Given the description of an element on the screen output the (x, y) to click on. 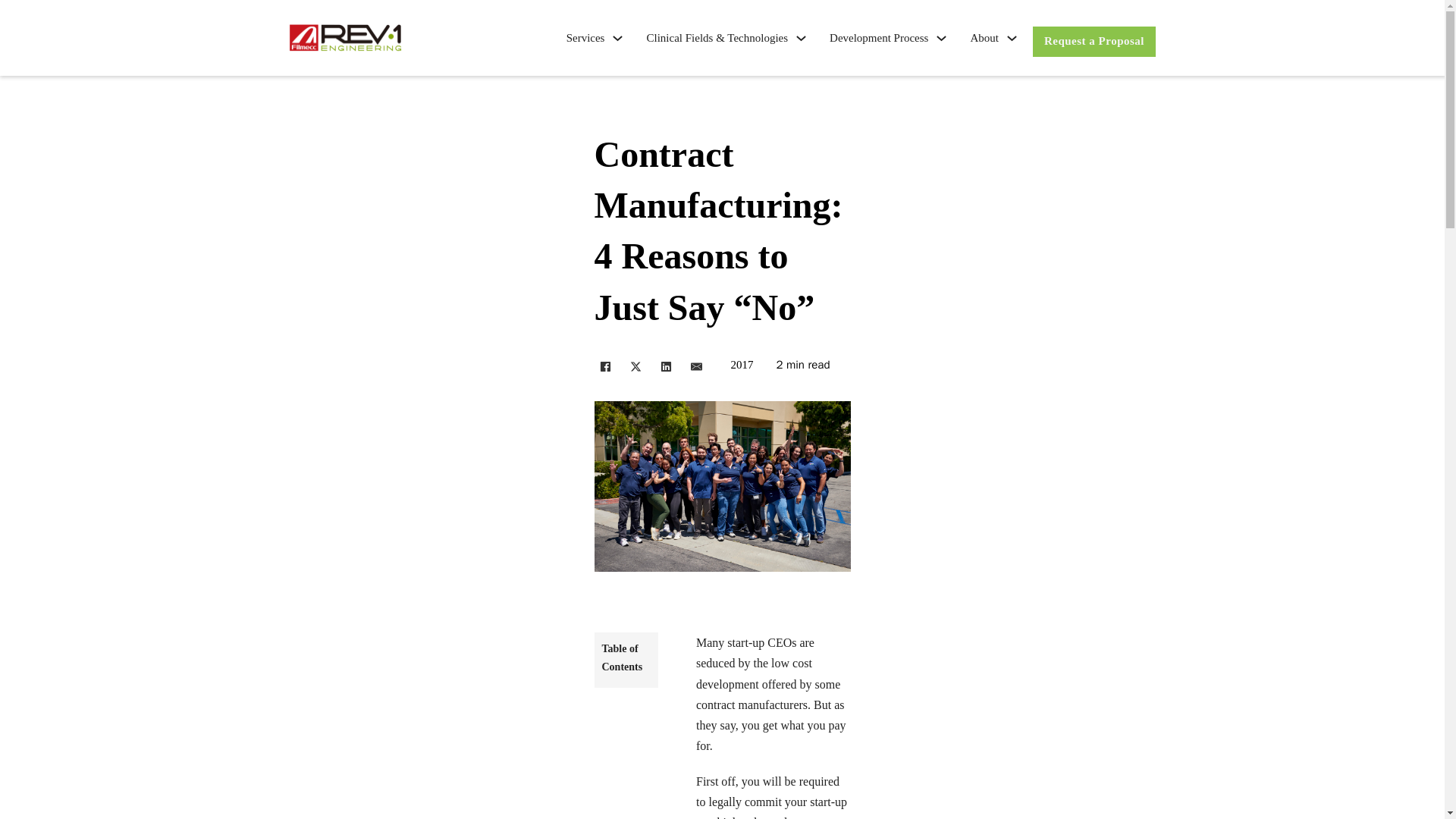
Development Process (878, 38)
Services (585, 38)
About (983, 38)
